Given the description of an element on the screen output the (x, y) to click on. 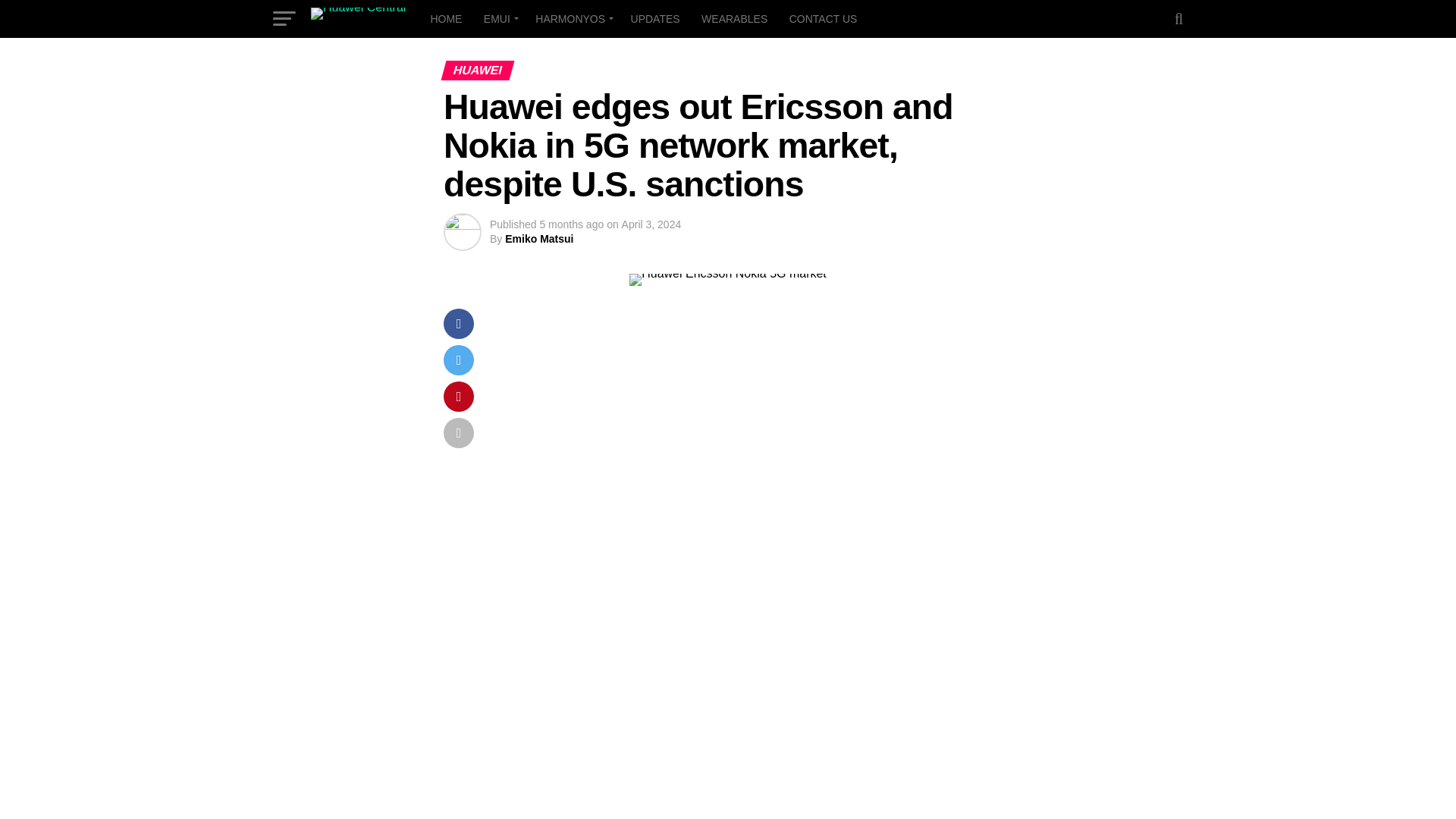
Posts by Emiko Matsui (539, 238)
HOME (445, 18)
HARMONYOS (571, 18)
EMUI (498, 18)
UPDATES (654, 18)
